Given the description of an element on the screen output the (x, y) to click on. 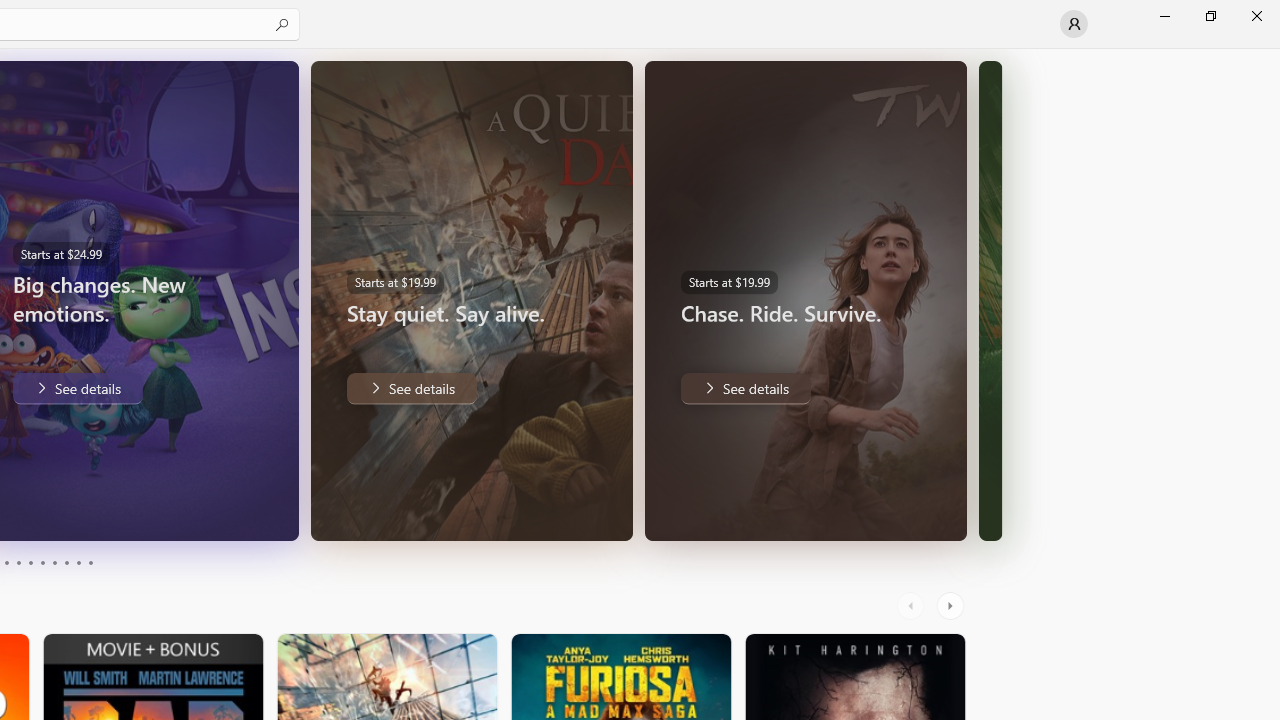
Play Trailer (229, 512)
Page 7 (54, 562)
Page 9 (77, 562)
AutomationID: LeftScrollButton (913, 606)
Page 10 (90, 562)
Page 6 (41, 562)
Unmute (269, 512)
User profile (1073, 24)
AutomationID: Image (989, 300)
AutomationID: RightScrollButton (952, 606)
Minimize Microsoft Store (1164, 15)
Page 5 (29, 562)
